Given the description of an element on the screen output the (x, y) to click on. 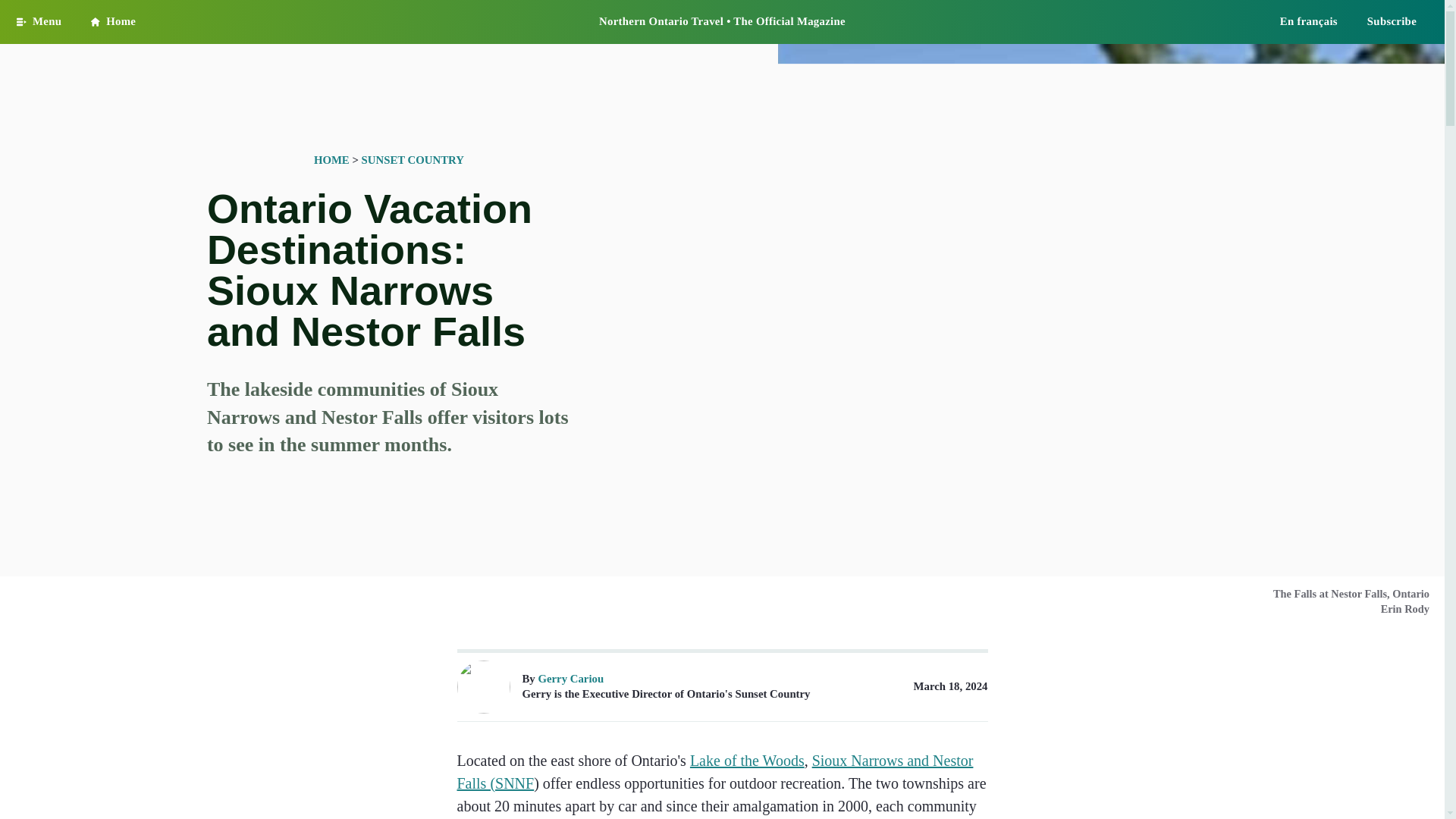
Lake of the Woods vacations (747, 760)
